Given the description of an element on the screen output the (x, y) to click on. 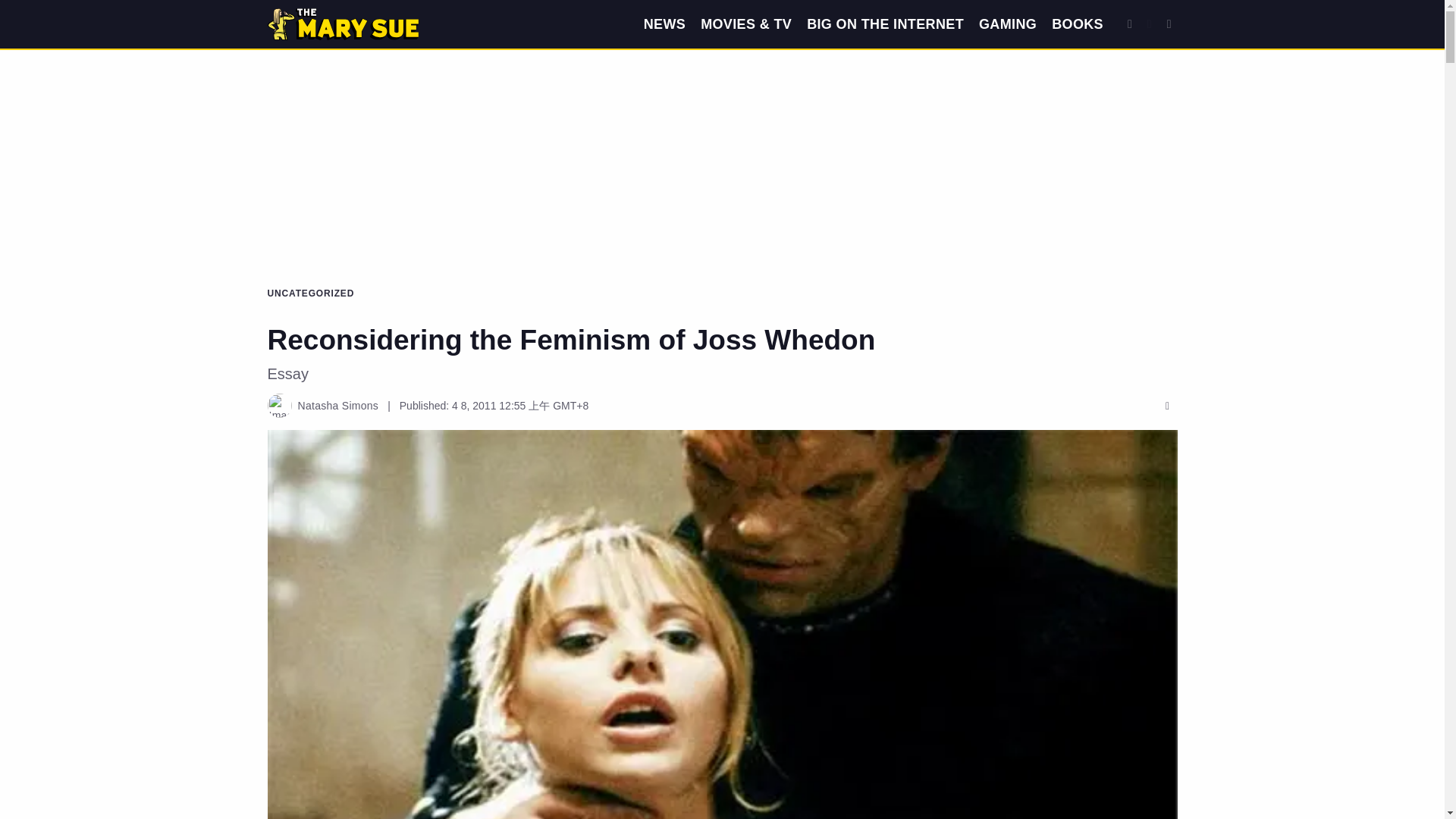
Dark Mode (1149, 23)
NEWS (664, 23)
Expand Menu (1168, 23)
GAMING (1007, 23)
BIG ON THE INTERNET (884, 23)
BOOKS (1077, 23)
Search (1129, 23)
